Given the description of an element on the screen output the (x, y) to click on. 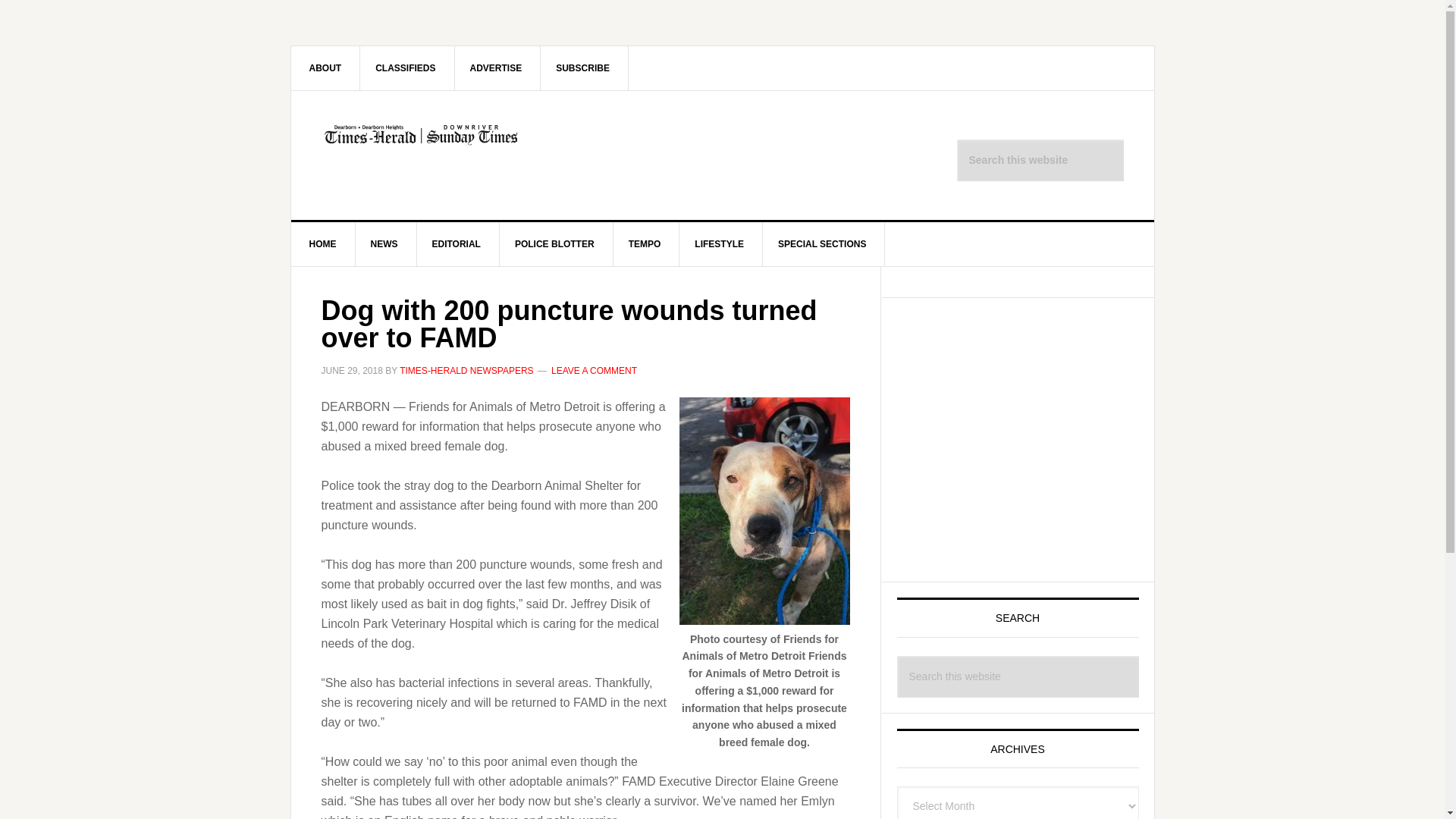
LEAVE A COMMENT (594, 370)
NEWS (384, 243)
ABOUT (326, 67)
POLICE BLOTTER (554, 243)
CLASSIFIEDS (405, 67)
SUBSCRIBE (582, 67)
LIFESTYLE (719, 243)
TEMPO (644, 243)
HOME (323, 243)
EDITORIAL (456, 243)
ADVERTISE (496, 67)
TIMES-HERALD AND SUNDAY TIMES NEWSPAPERS (419, 155)
